Given the description of an element on the screen output the (x, y) to click on. 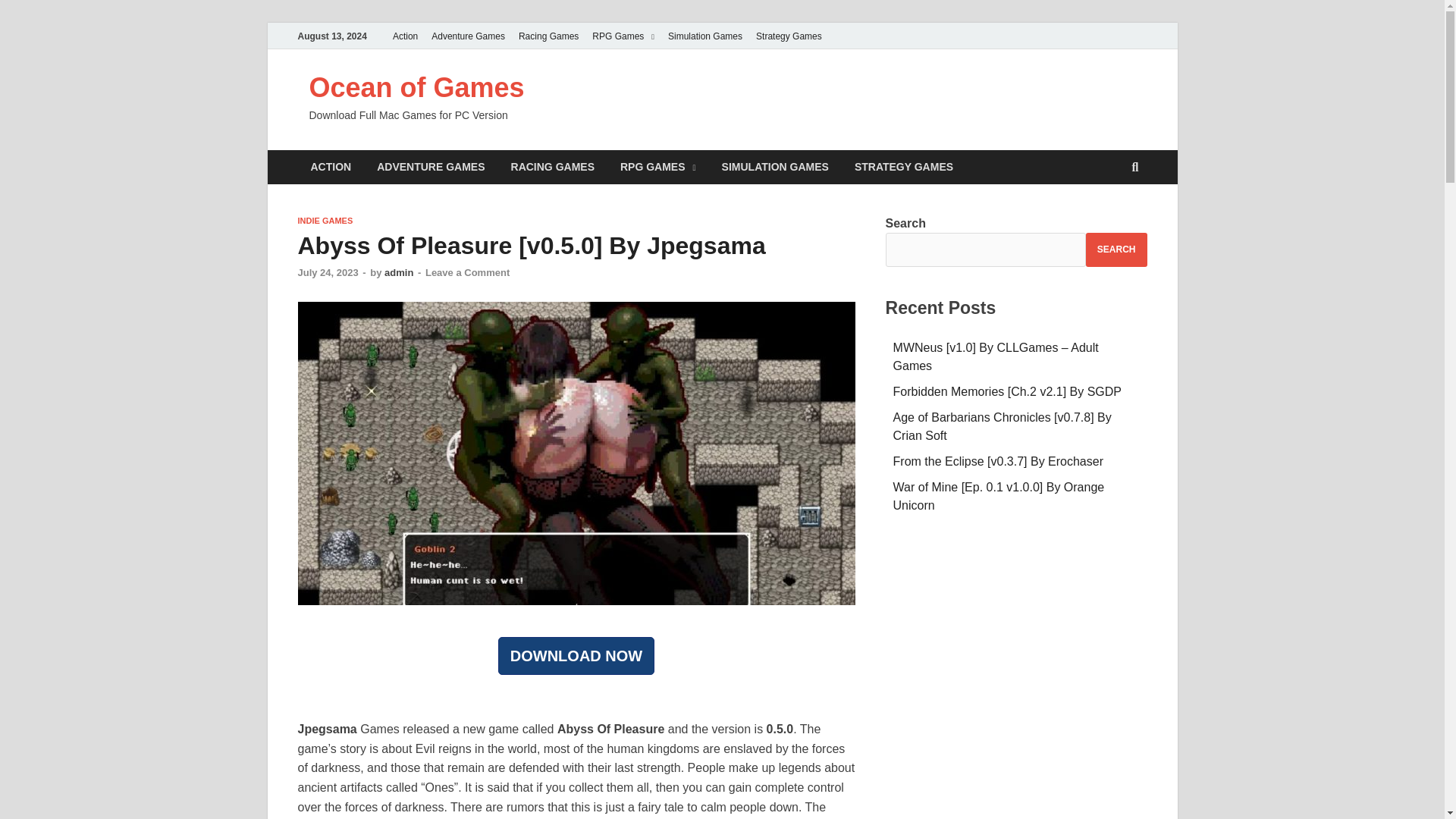
ADVENTURE GAMES (430, 166)
RPG Games (623, 35)
RPG GAMES (658, 166)
Action (405, 35)
Strategy Games (788, 35)
Racing Games (548, 35)
SIMULATION GAMES (775, 166)
Ocean of Games (416, 87)
Adventure Games (468, 35)
STRATEGY GAMES (903, 166)
